Given the description of an element on the screen output the (x, y) to click on. 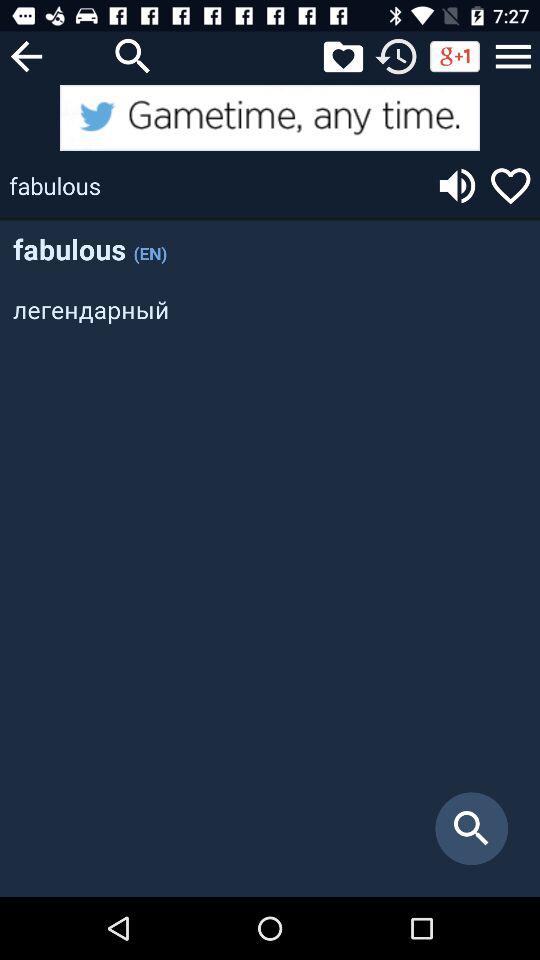
go back (26, 56)
